Given the description of an element on the screen output the (x, y) to click on. 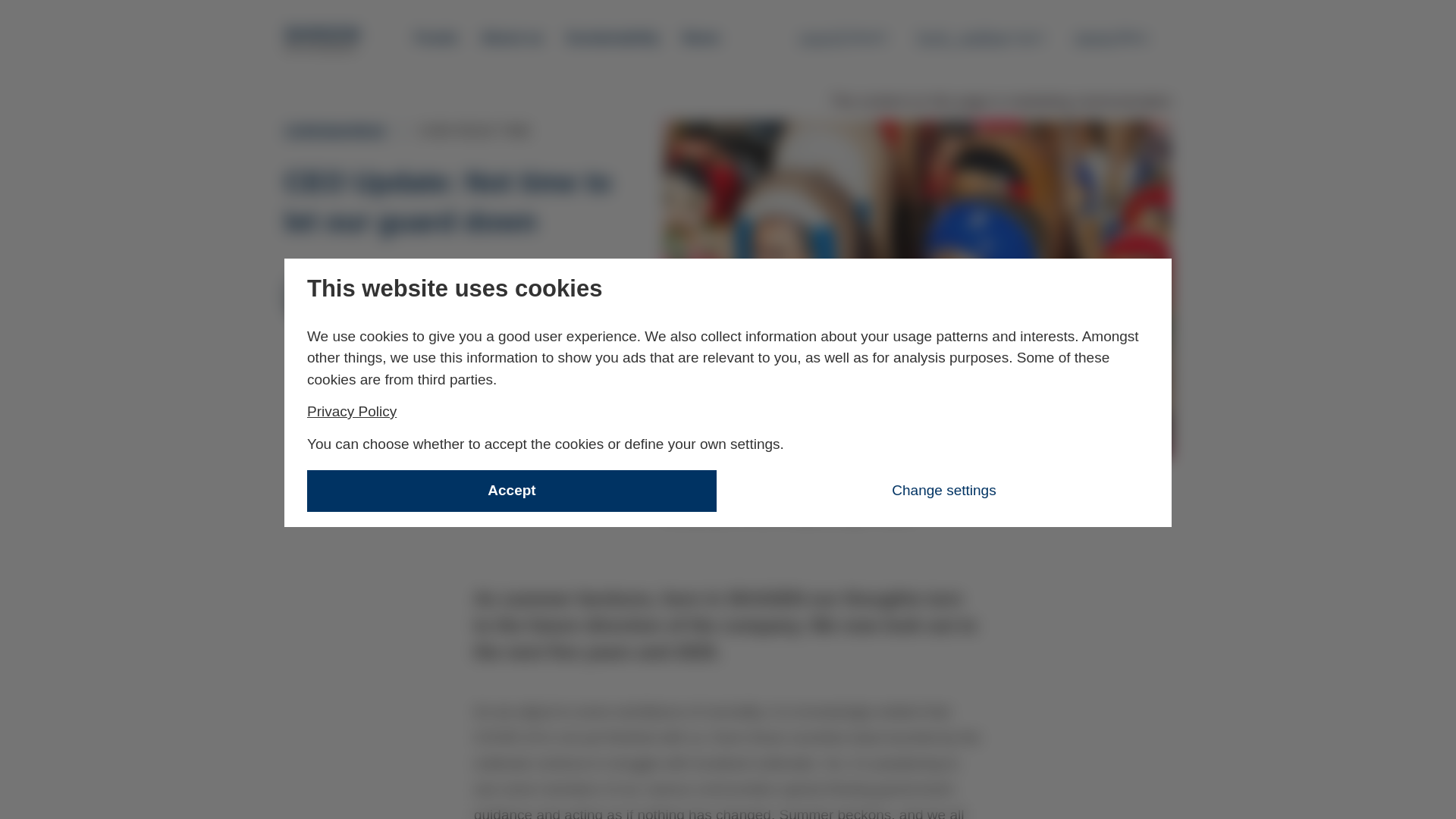
Global Stock Markets (356, 370)
Sustainability (1121, 37)
SKAGEN Funds (612, 37)
Funds (323, 39)
About us (436, 37)
Timothy Warrington (842, 37)
